Given the description of an element on the screen output the (x, y) to click on. 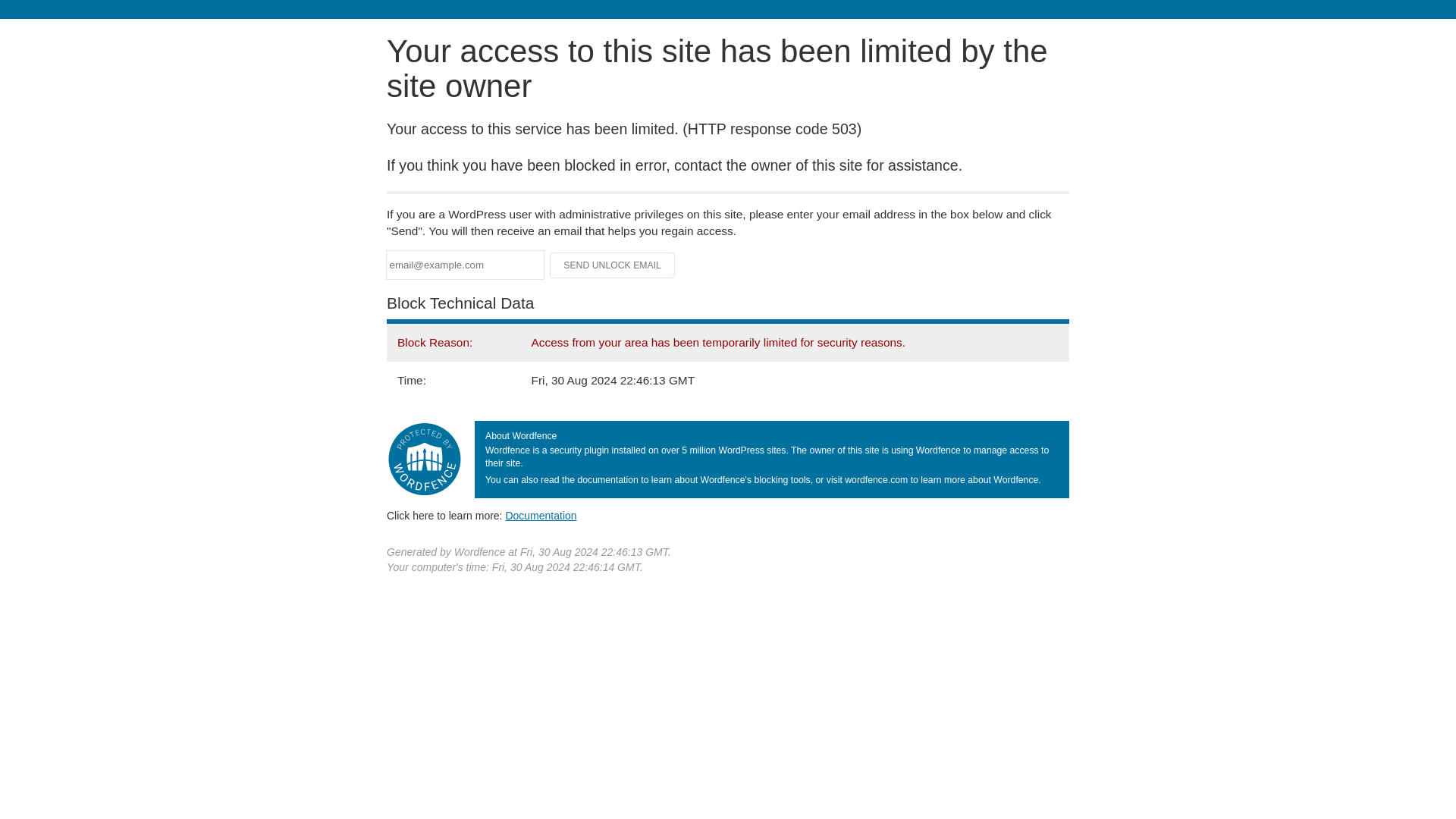
Documentation (540, 515)
Send Unlock Email (612, 265)
Send Unlock Email (612, 265)
